Given the description of an element on the screen output the (x, y) to click on. 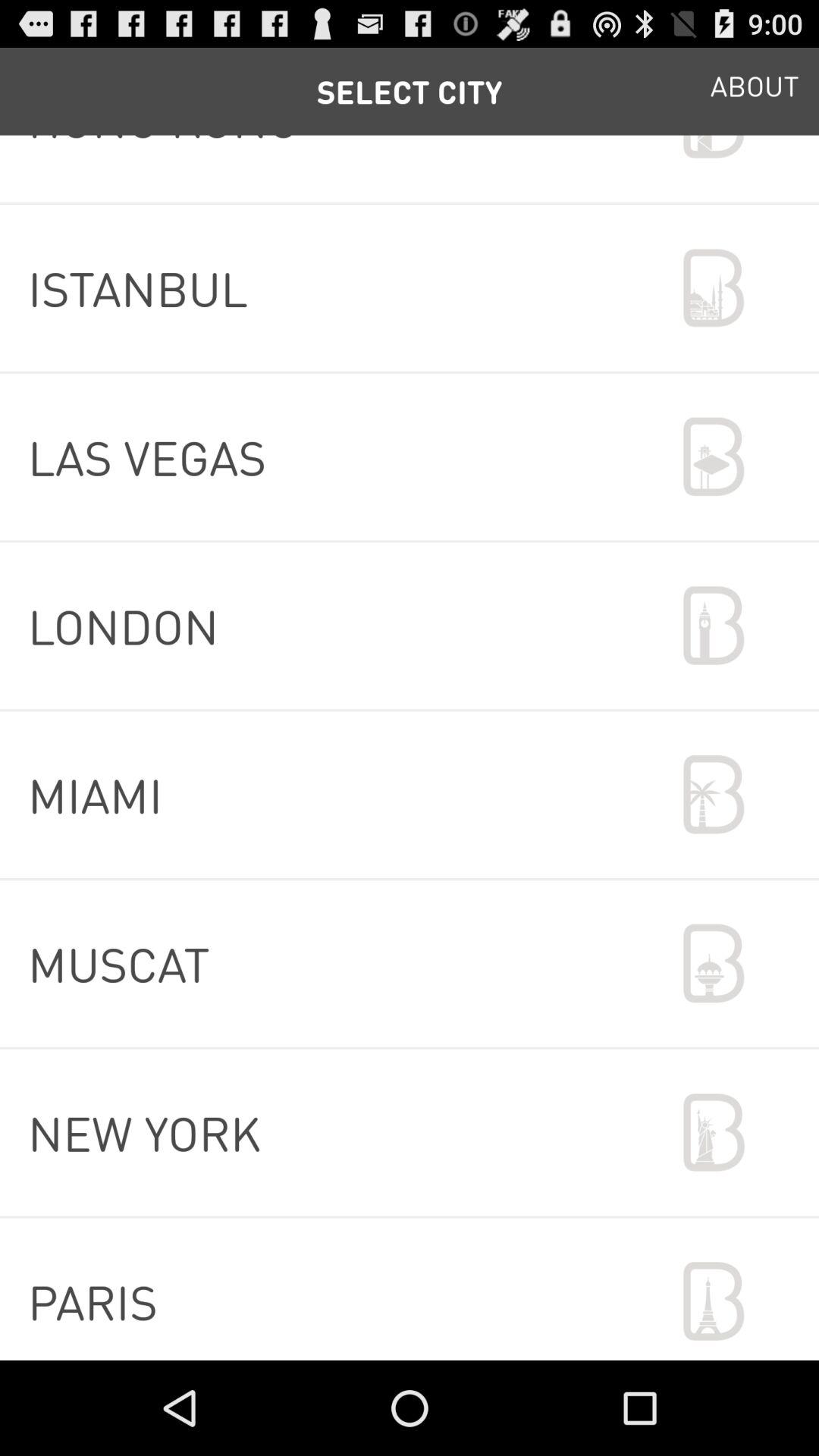
turn on the item above hong kong icon (754, 91)
